Given the description of an element on the screen output the (x, y) to click on. 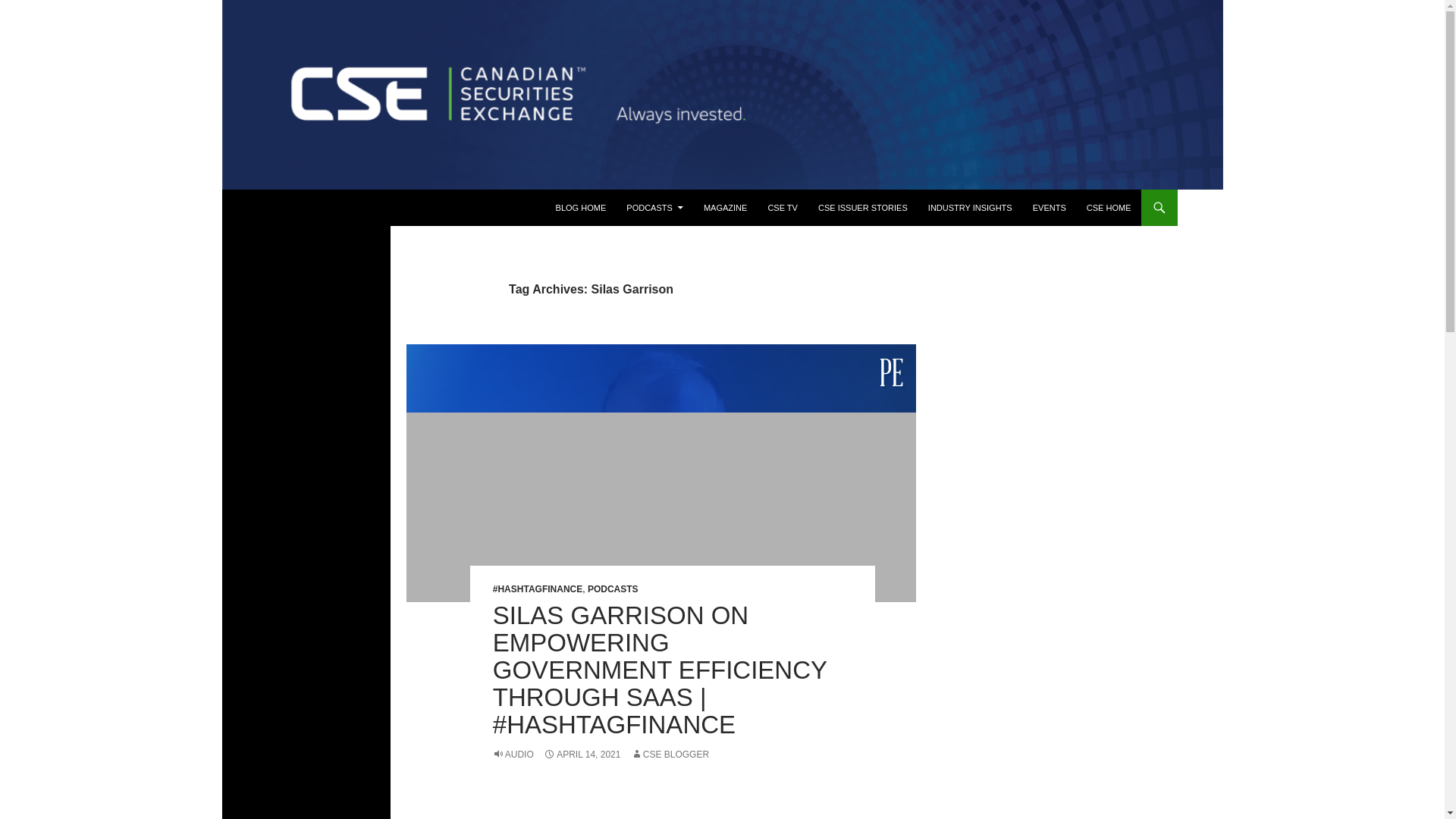
EVENTS (1049, 207)
MAGAZINE (724, 207)
PODCASTS (655, 207)
CSE ISSUER STORIES (863, 207)
PODCASTS (613, 588)
AUDIO (513, 754)
BLOG HOME (581, 207)
CSE TV (782, 207)
CSE BLOGGER (669, 754)
CSE HOME (1108, 207)
INDUSTRY INSIGHTS (970, 207)
APRIL 14, 2021 (581, 754)
